Given the description of an element on the screen output the (x, y) to click on. 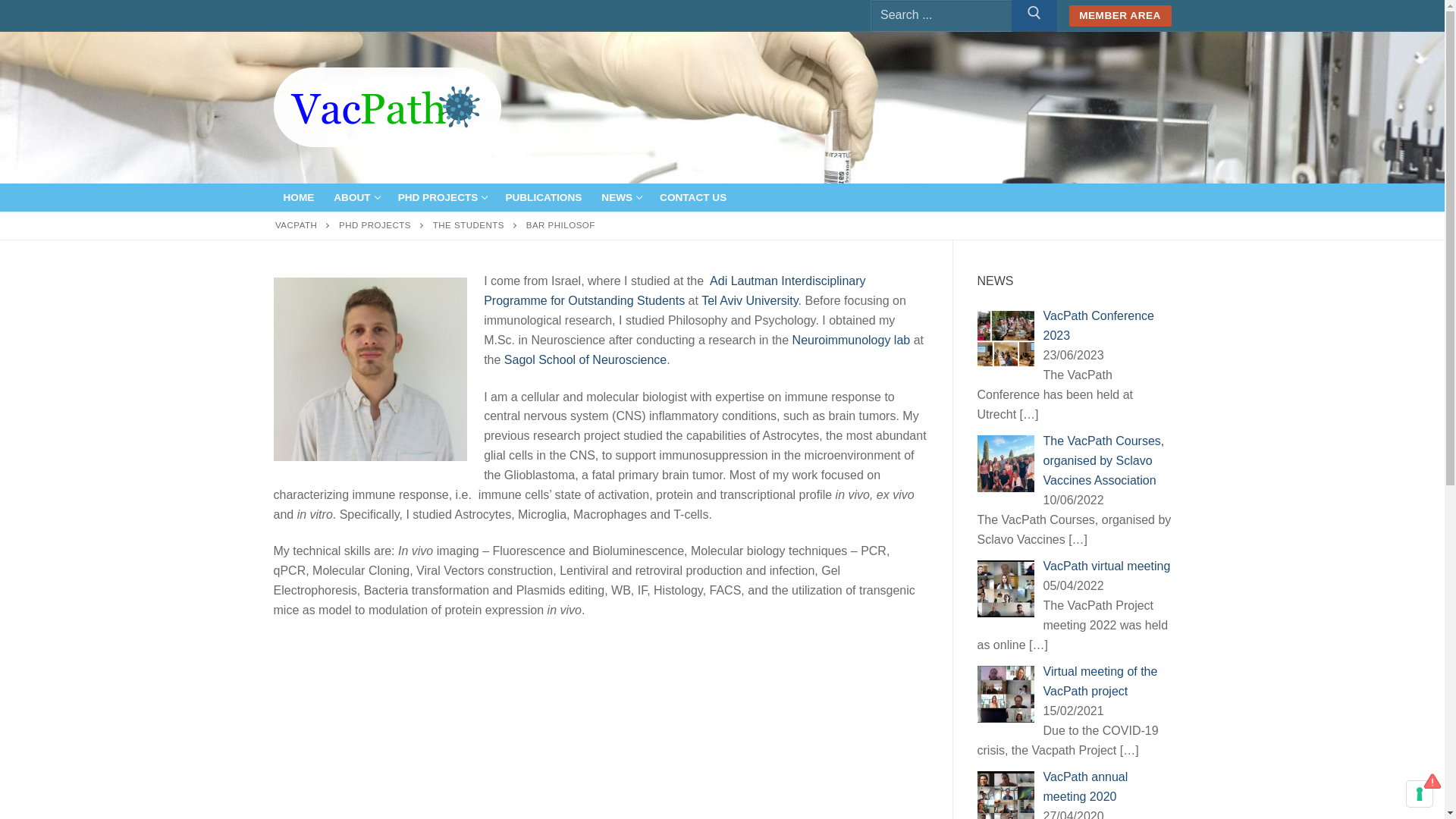
VACPATH (296, 225)
Tel Aviv University (749, 300)
PHD PROJECTS (374, 225)
Go to VacPath. (296, 225)
Sagol School of Neuroscience (584, 359)
Go to The Students. (467, 225)
VacPath virtual meeting (1106, 565)
PUBLICATIONS (543, 197)
Search for: (442, 197)
VacPath annual meeting 2020 (620, 197)
